Given the description of an element on the screen output the (x, y) to click on. 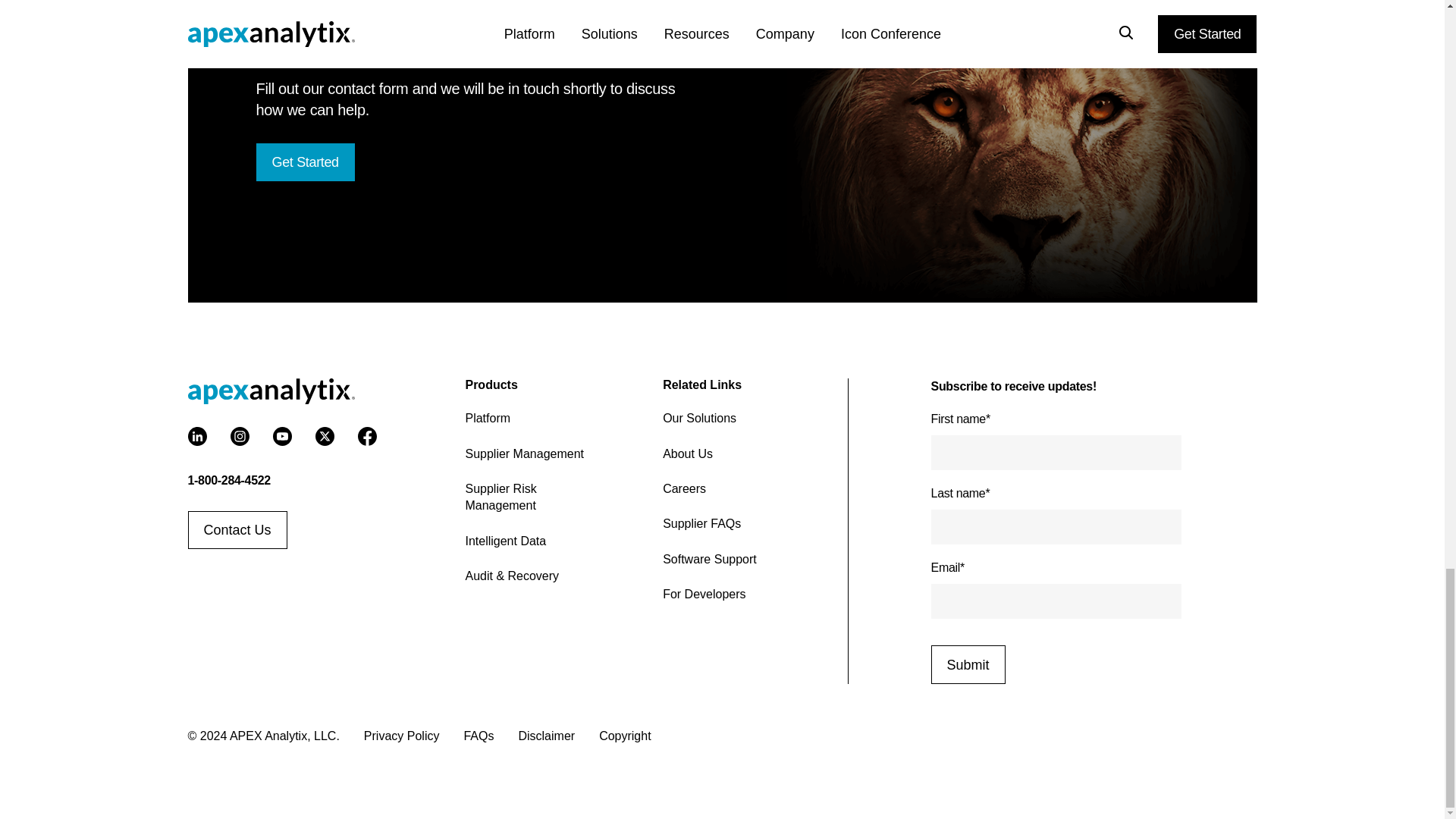
Submit (968, 664)
